Given the description of an element on the screen output the (x, y) to click on. 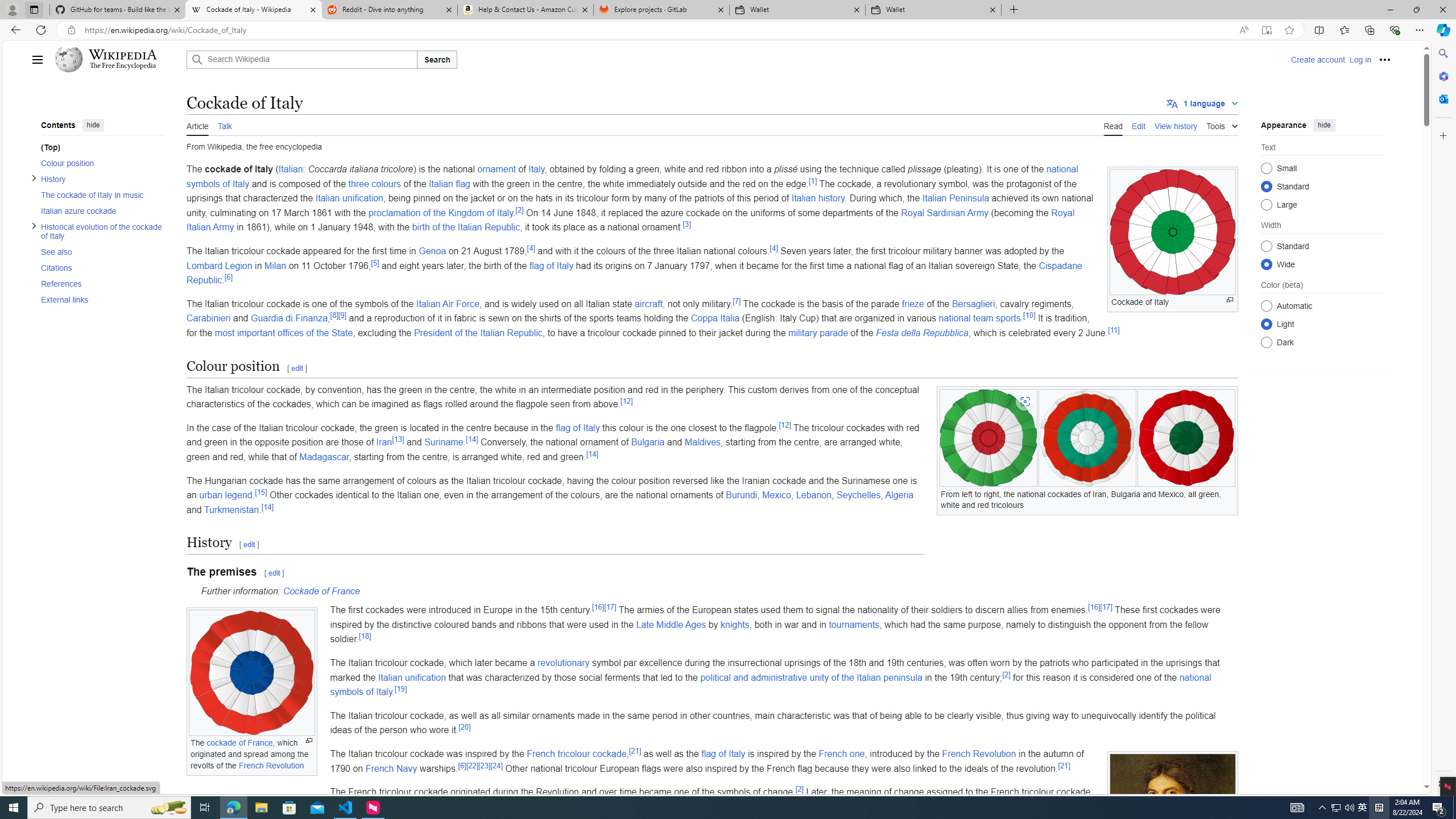
French one (841, 753)
most important offices of the State (283, 332)
Wikipedia The Free Encyclopedia (117, 59)
Dark (1266, 341)
See also (101, 251)
External links (98, 299)
The cockade of Italy in music (98, 194)
Algeria (899, 495)
[1] (812, 180)
Create account (1317, 58)
[2] (798, 788)
three colours (374, 183)
See also (98, 251)
[3] (686, 224)
